Given the description of an element on the screen output the (x, y) to click on. 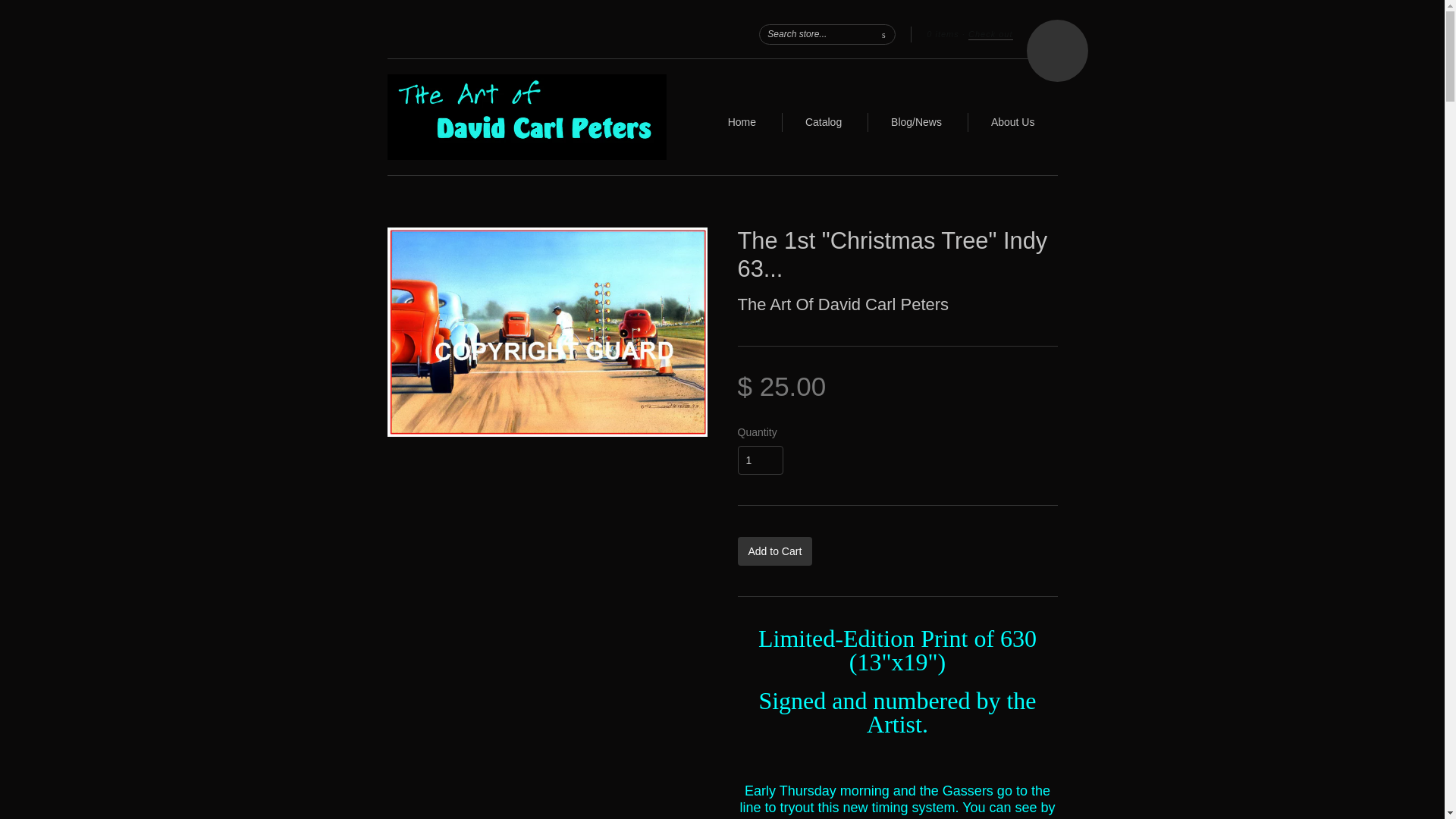
The Art Of David Carl Peters (842, 303)
Catalog (823, 122)
About Us (1013, 122)
Search (883, 33)
Check out (990, 34)
1 (759, 460)
Add to Cart (774, 551)
0 items (942, 34)
Home (741, 122)
